Given the description of an element on the screen output the (x, y) to click on. 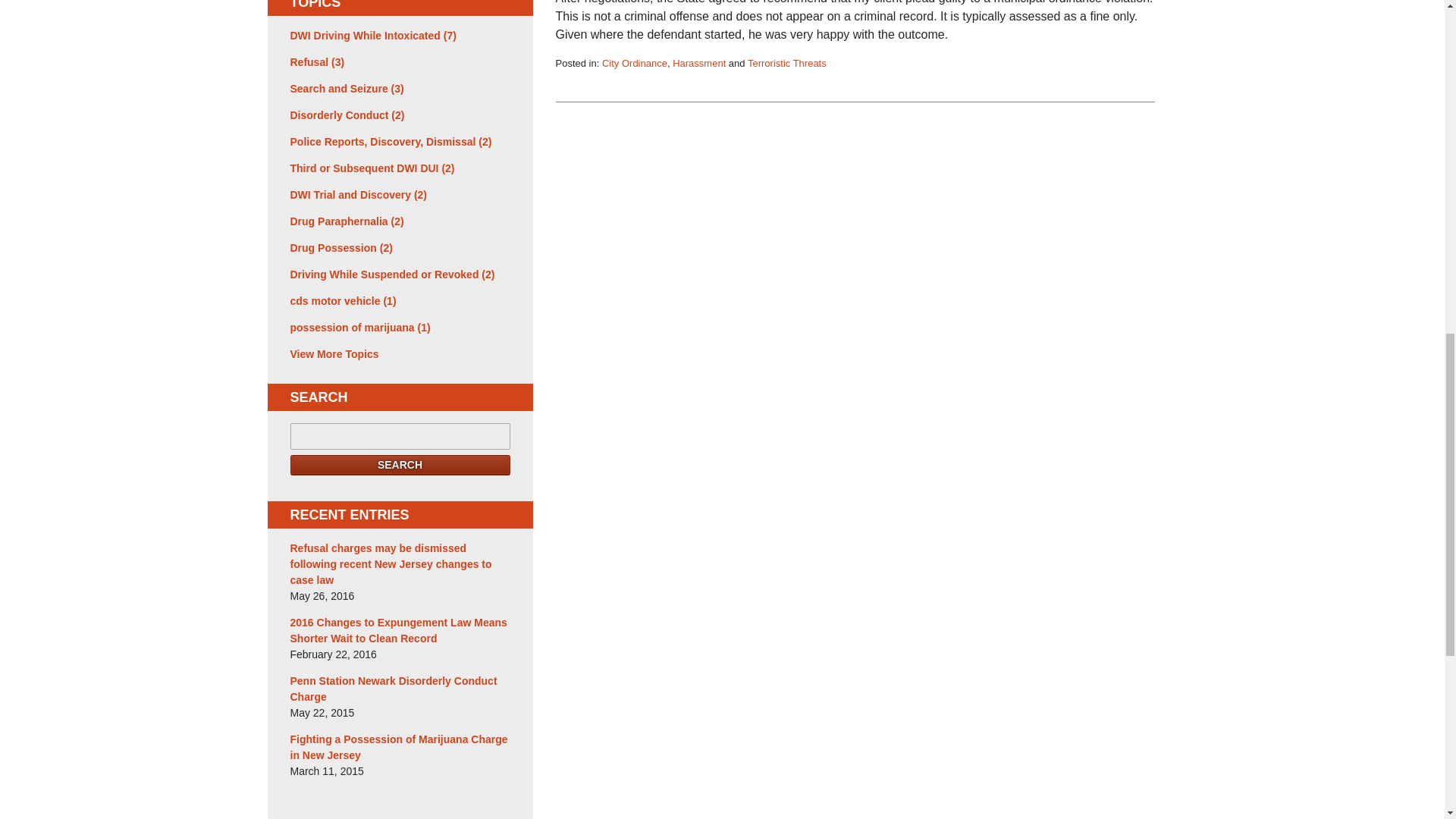
View all posts in City Ordinance (634, 62)
View all posts in Harassment (698, 62)
Terroristic Threats (787, 62)
View all posts in Terroristic Threats (787, 62)
Harassment (698, 62)
City Ordinance (634, 62)
